Given the description of an element on the screen output the (x, y) to click on. 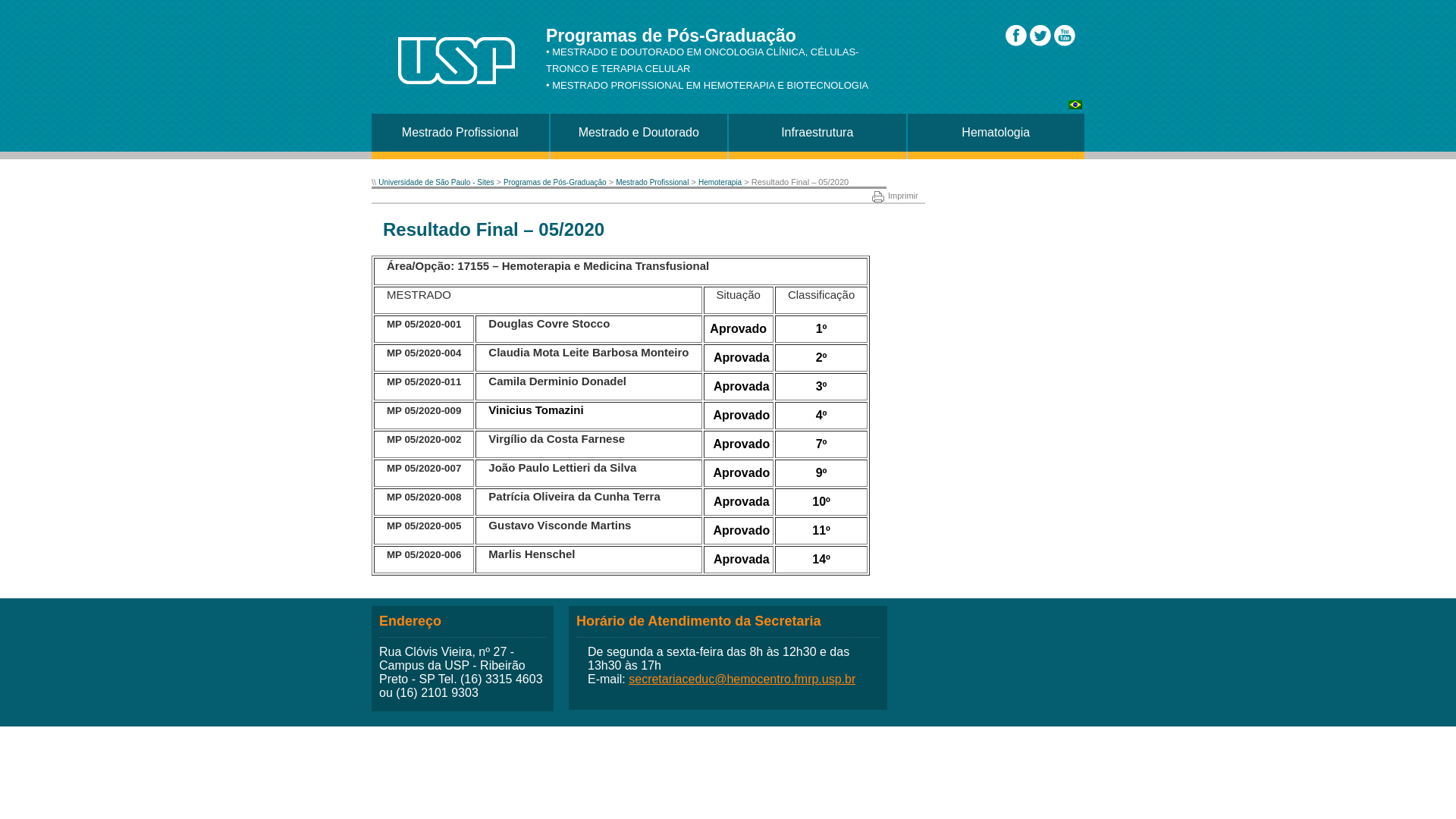
Hemoterapia Element type: text (719, 182)
Mestrado Profissional Element type: text (460, 132)
Hematologia Element type: text (995, 132)
Twitter Element type: hover (1040, 34)
Mestrado Profissional Element type: text (651, 182)
Infraestrutura Element type: text (817, 132)
Facebook Element type: hover (1016, 34)
secretariaceduc@hemocentro.fmrp.usp.br Element type: text (741, 678)
Youtube Element type: hover (1064, 34)
Mestrado e Doutorado Element type: text (639, 132)
Imprimir Element type: text (895, 195)
